Given the description of an element on the screen output the (x, y) to click on. 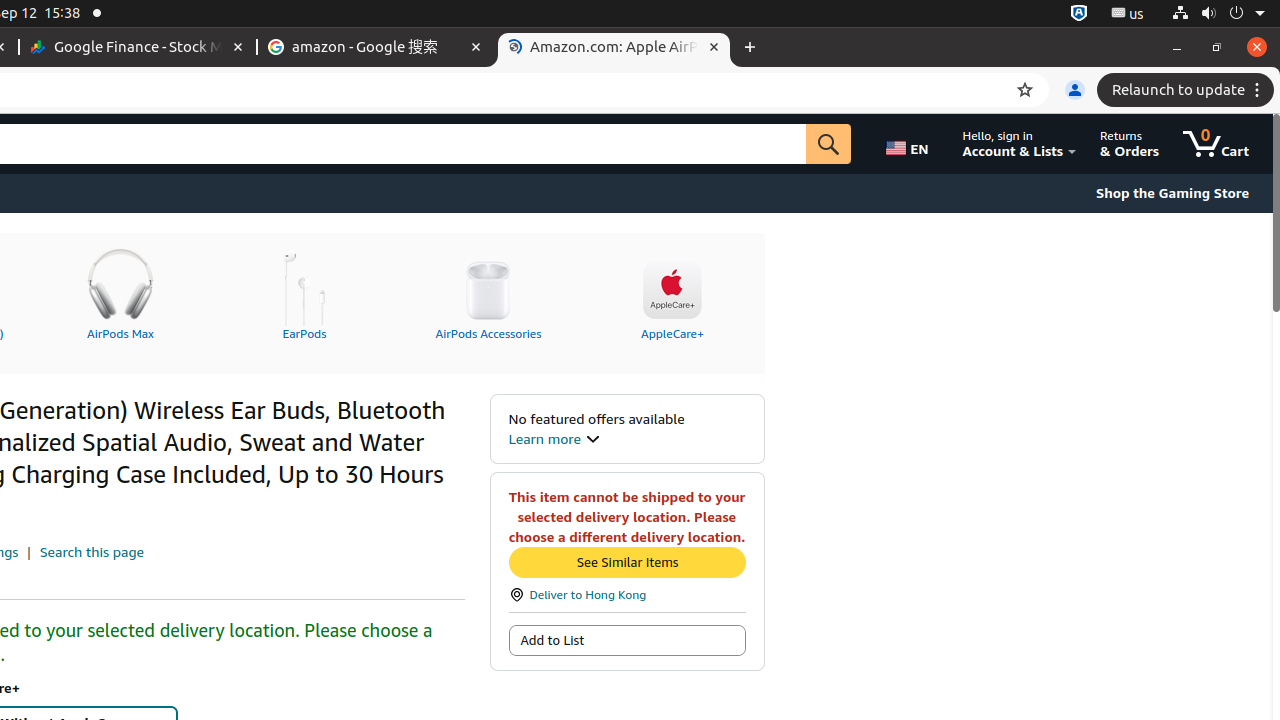
Relaunch to update Element type: push-button (1188, 90)
:1.72/StatusNotifierItem Element type: menu (1079, 13)
Go Element type: push-button (829, 144)
System Element type: menu (1218, 13)
You Element type: push-button (1075, 90)
